Given the description of an element on the screen output the (x, y) to click on. 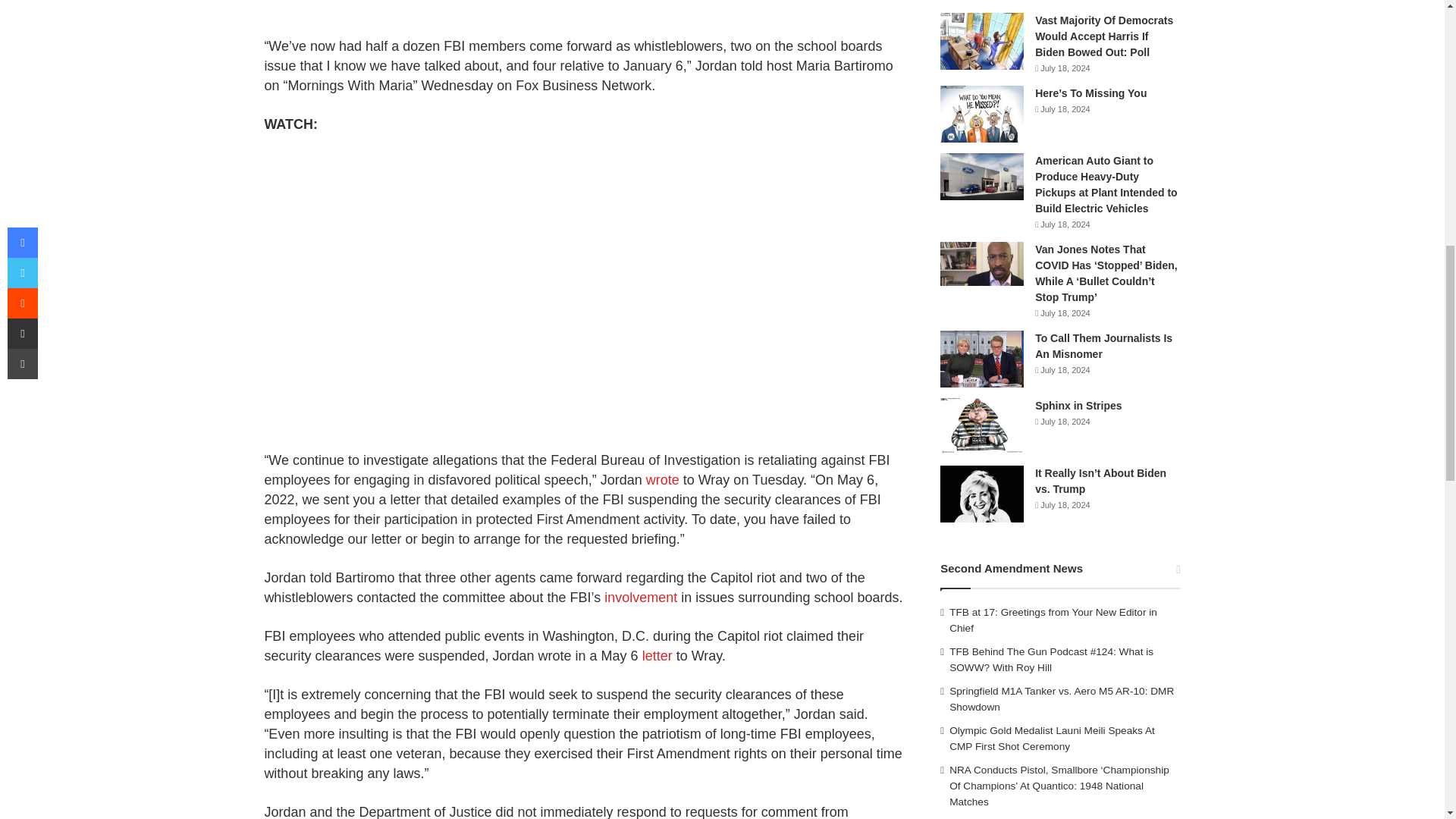
Advertisement (584, 15)
